Given the description of an element on the screen output the (x, y) to click on. 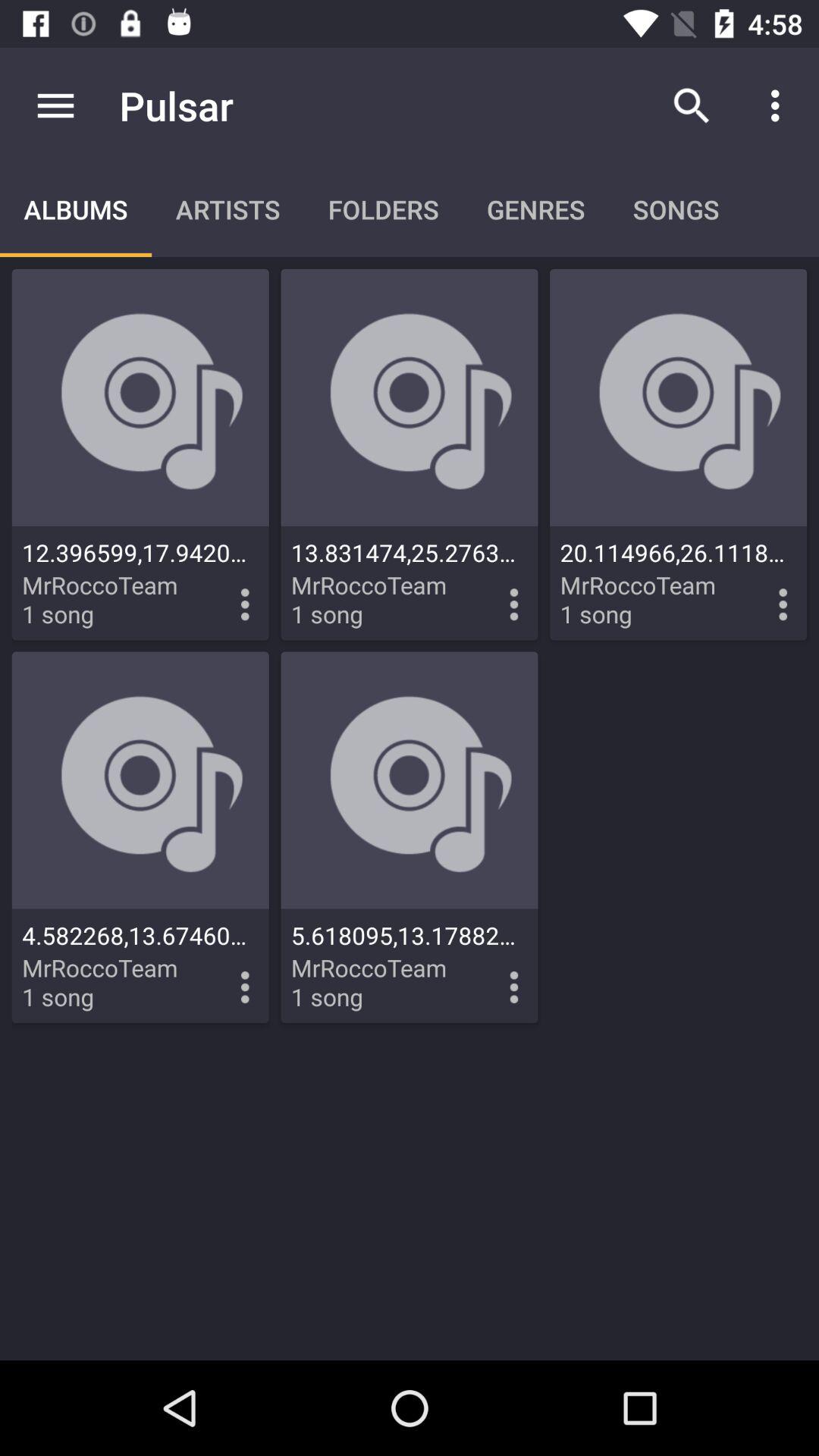
press the item above the songs item (691, 105)
